Given the description of an element on the screen output the (x, y) to click on. 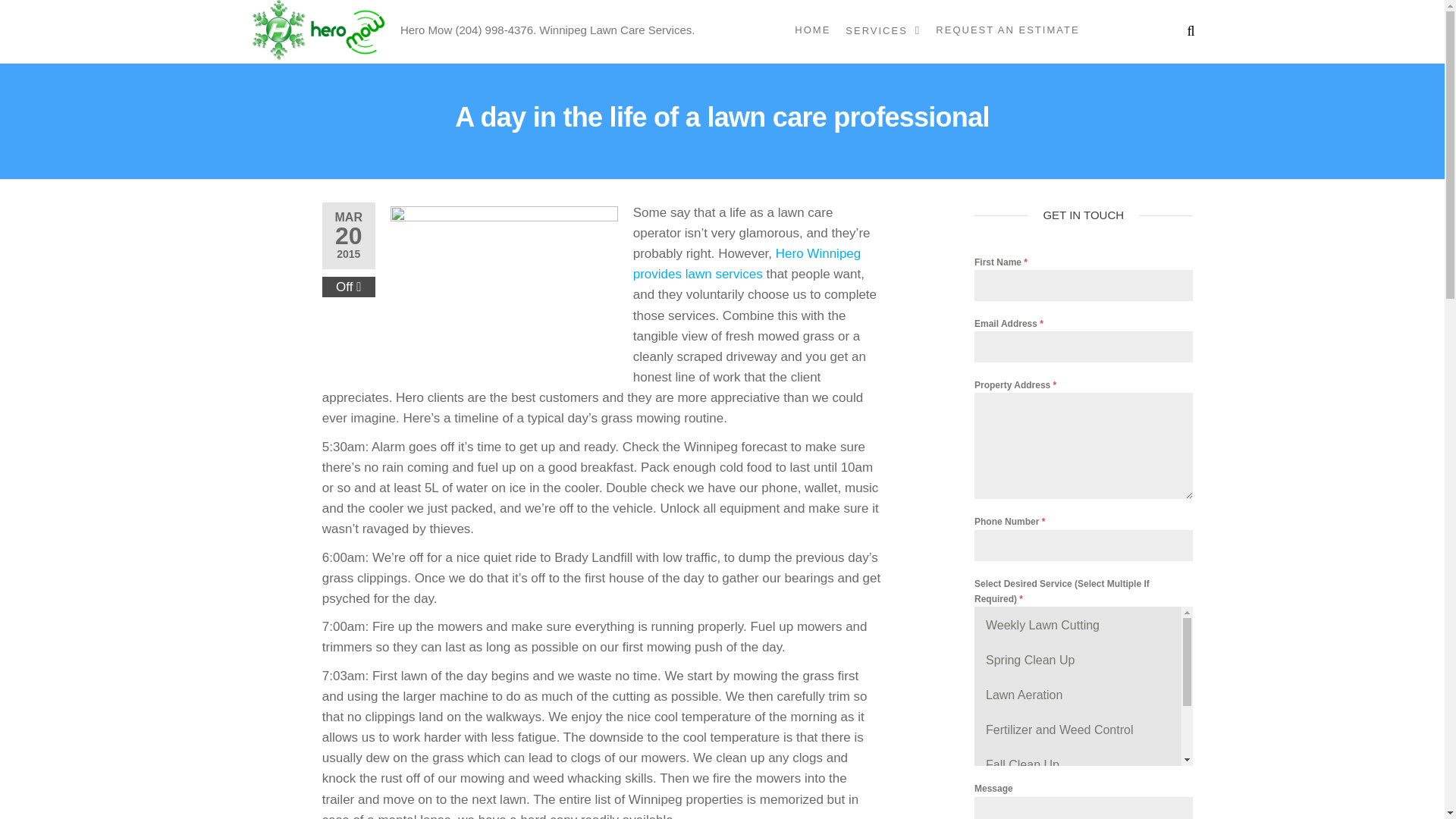
Services (883, 30)
SERVICES (883, 30)
Request An Estimate (1007, 30)
HERO MOW WINNIPEG (521, 33)
